Given the description of an element on the screen output the (x, y) to click on. 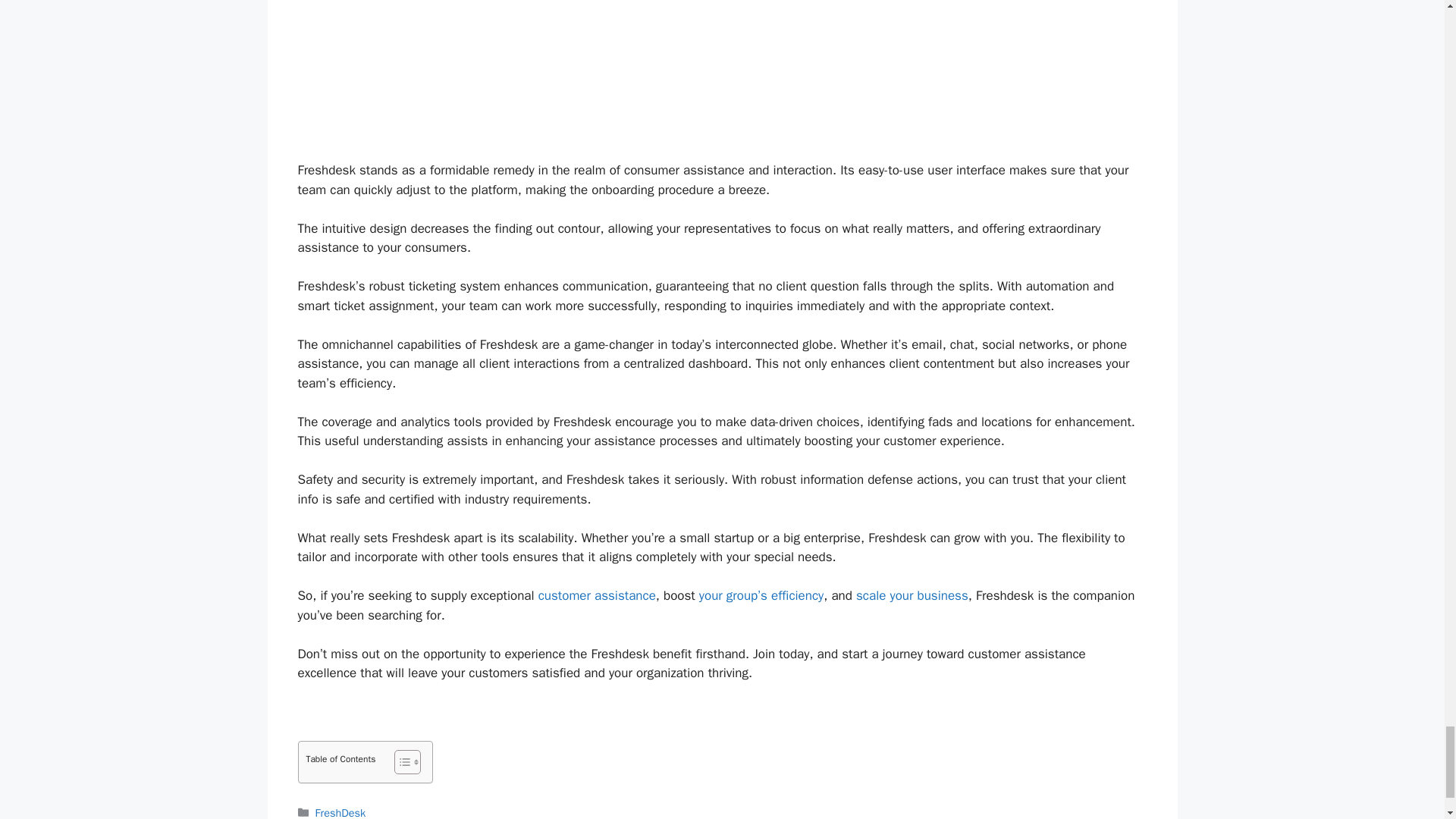
FreshDesk (340, 812)
scale your business (912, 595)
customer assistance (597, 595)
